Given the description of an element on the screen output the (x, y) to click on. 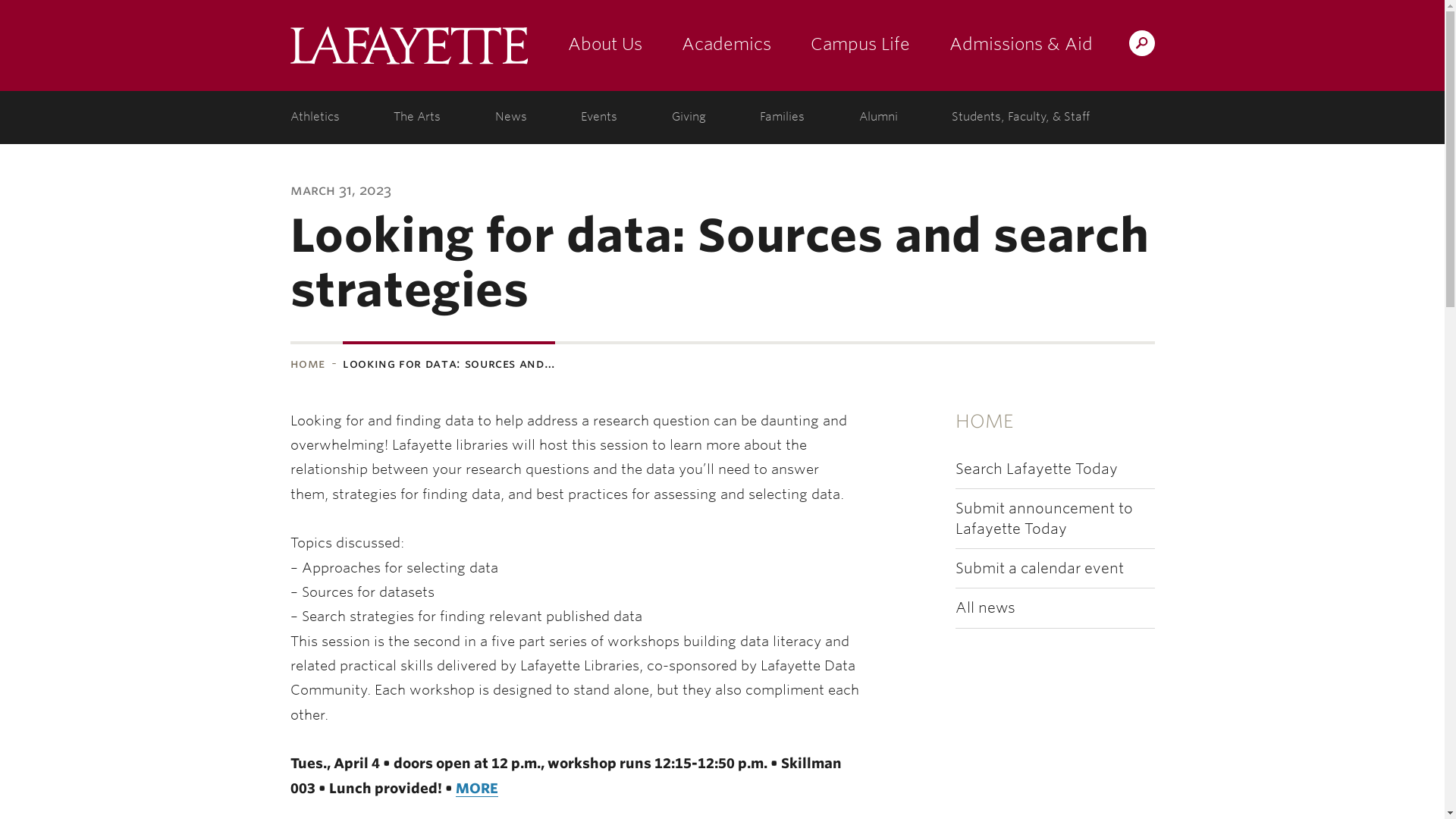
Academics (725, 45)
Campus Life (859, 45)
Search Lafayette.edu (1141, 43)
Search (842, 42)
About Us (603, 45)
Lafayette College (408, 45)
